Given the description of an element on the screen output the (x, y) to click on. 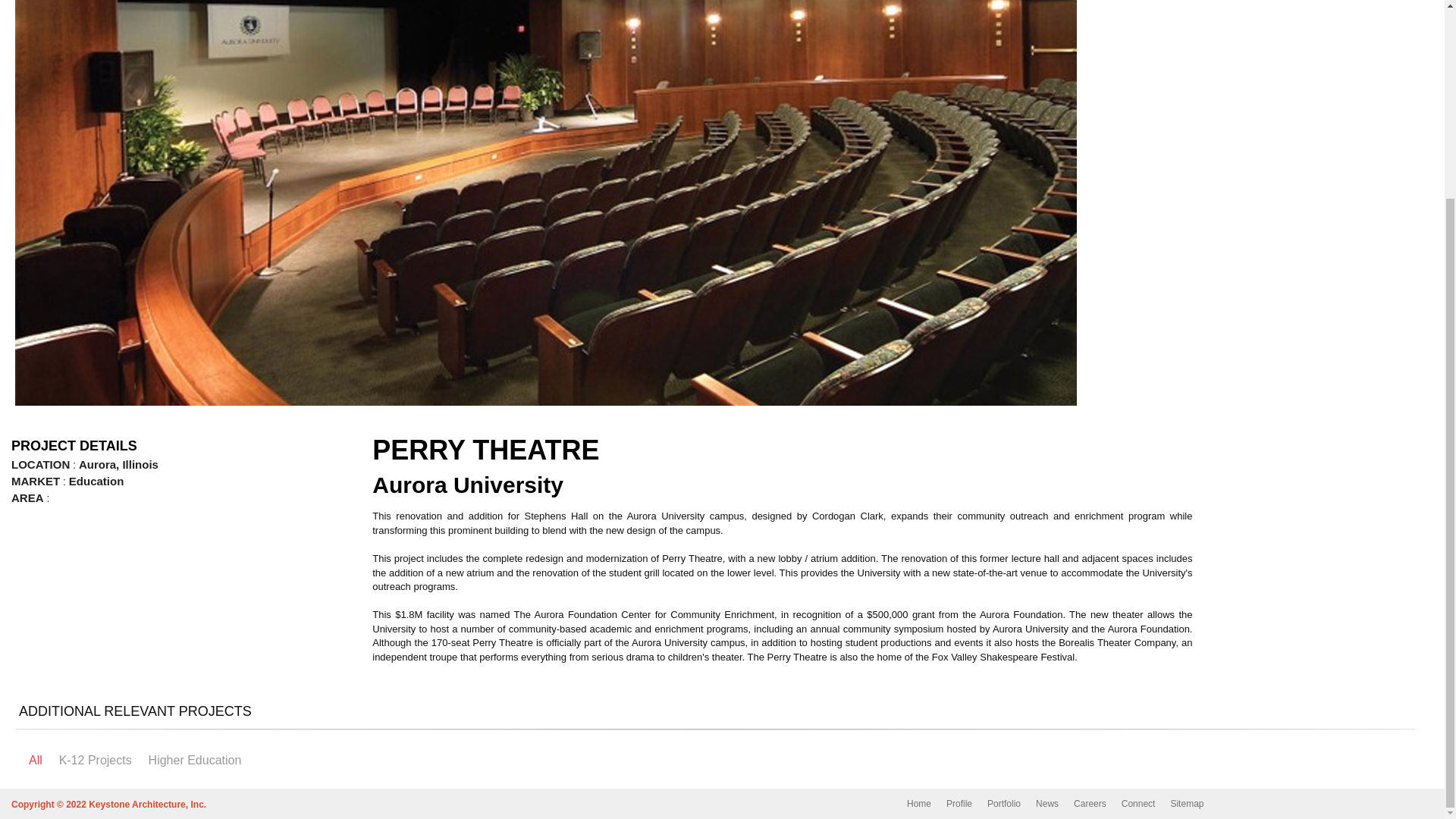
K-12 Projects (95, 759)
Higher Education (194, 759)
All (35, 759)
